Given the description of an element on the screen output the (x, y) to click on. 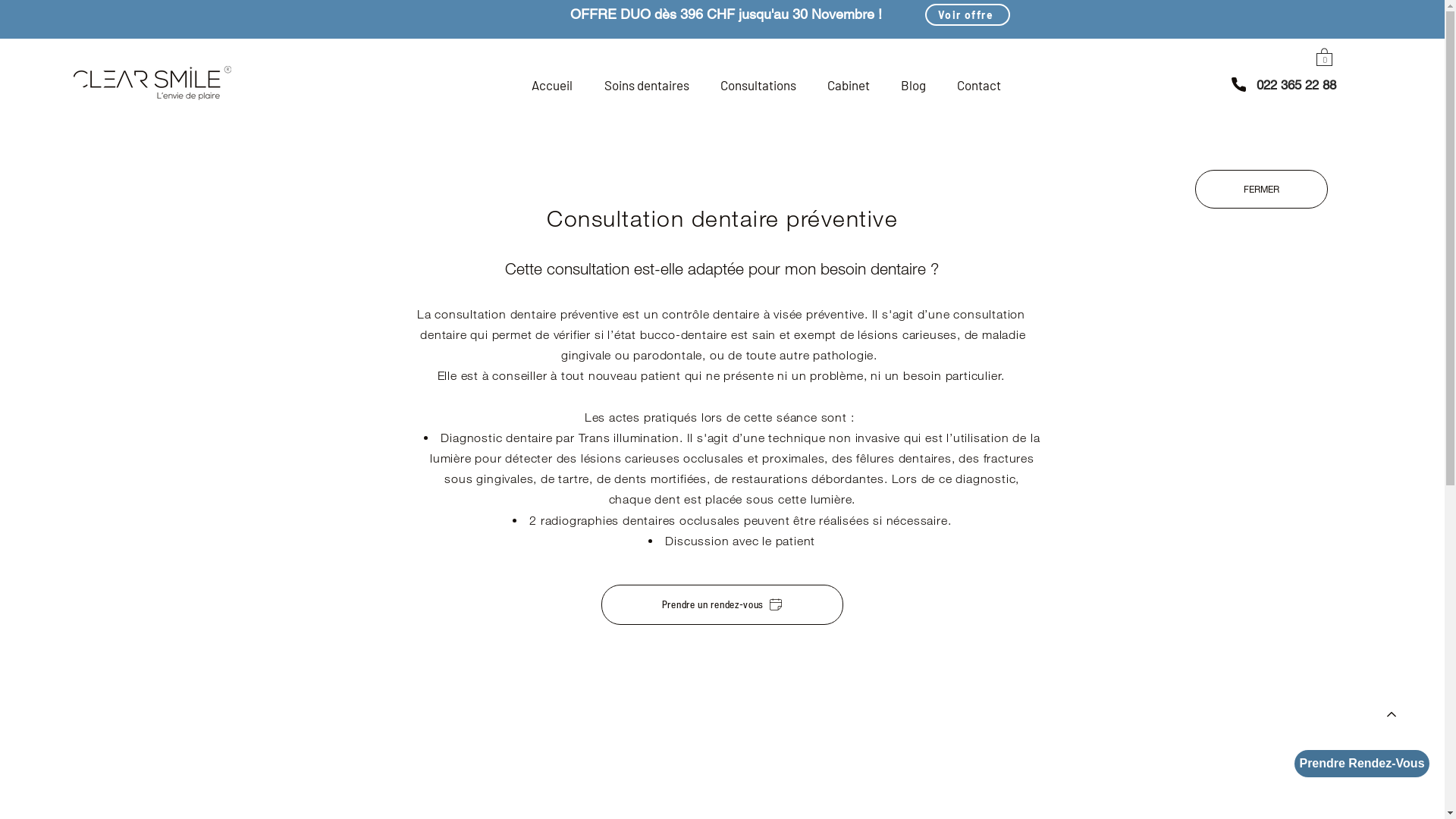
Prendre Rendez-Vous Element type: text (1361, 763)
022 365 22 88 Element type: text (1296, 84)
Consultations Element type: text (757, 84)
Accueil Element type: text (551, 84)
Prendre un rendez-vous Element type: text (721, 604)
FERMER Element type: text (1261, 188)
Cabinet Element type: text (847, 84)
Logo Clear Smile Element type: hover (152, 82)
Blog Element type: text (912, 84)
0 Element type: text (1324, 56)
Contact Element type: text (978, 84)
Voir offre Element type: text (967, 14)
